Given the description of an element on the screen output the (x, y) to click on. 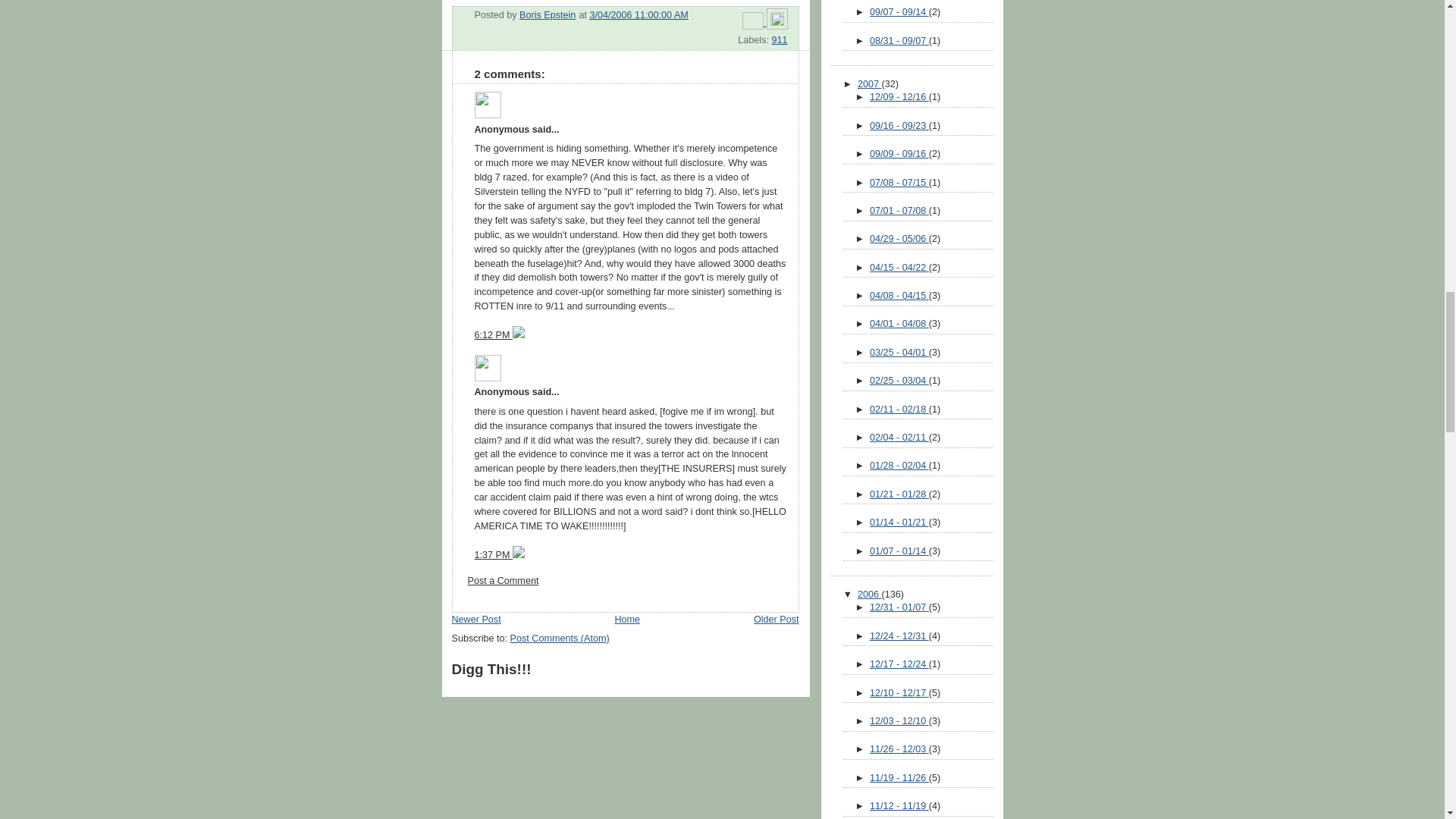
Newer Post (475, 619)
Delete Comment (518, 335)
Older Post (776, 619)
Anonymous (487, 367)
Edit Post (776, 22)
Boris Epstein (547, 14)
1:37 PM (493, 554)
permanent link (638, 14)
Email Post (754, 22)
Anonymous (487, 104)
6:12 PM (493, 335)
Post a Comment (502, 580)
Home (627, 619)
comment permalink (493, 335)
Newer Post (475, 619)
